Given the description of an element on the screen output the (x, y) to click on. 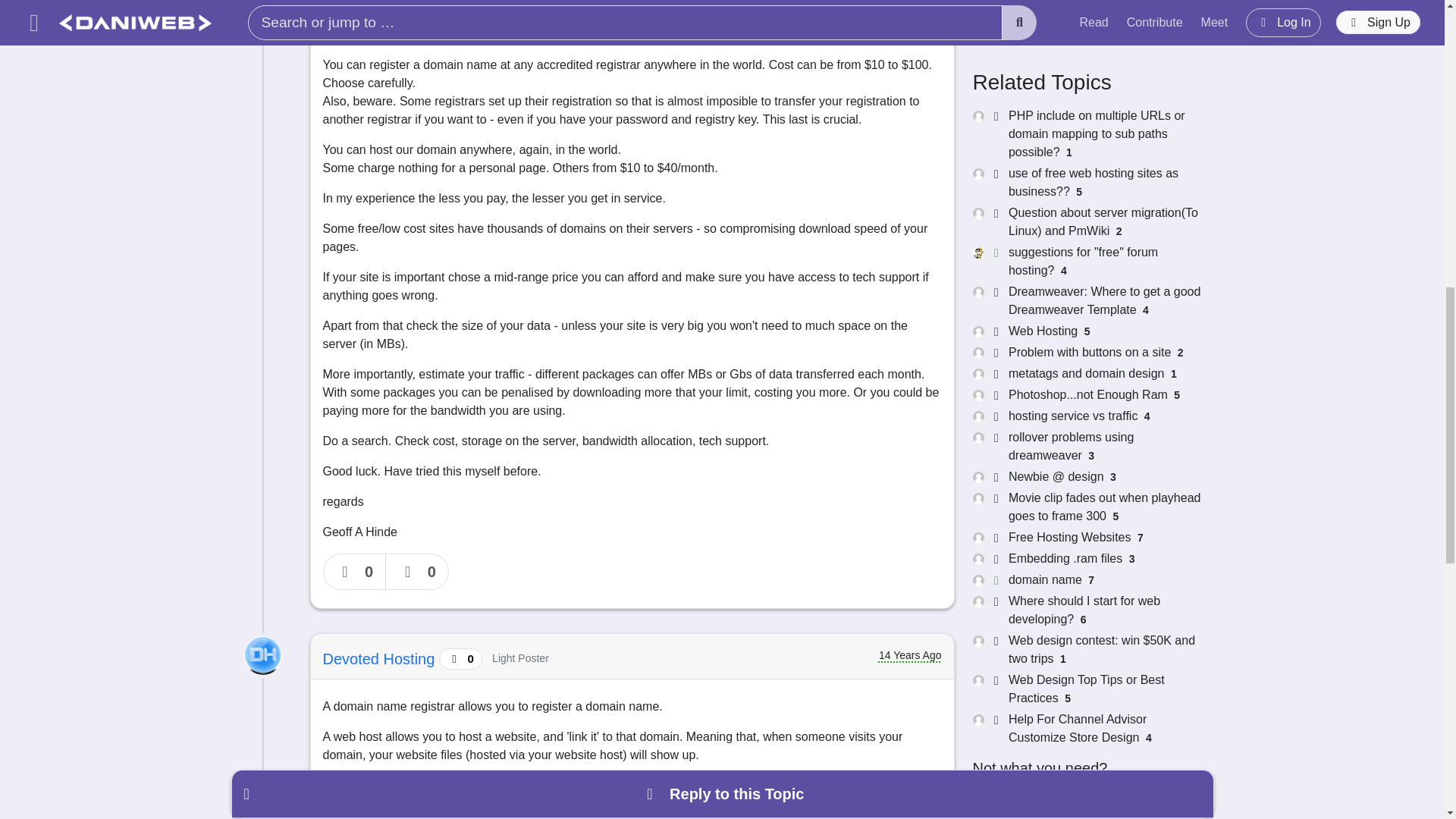
0 (416, 571)
Devoted Hosting (381, 658)
Geoff Hinde (365, 17)
0 (355, 571)
